Given the description of an element on the screen output the (x, y) to click on. 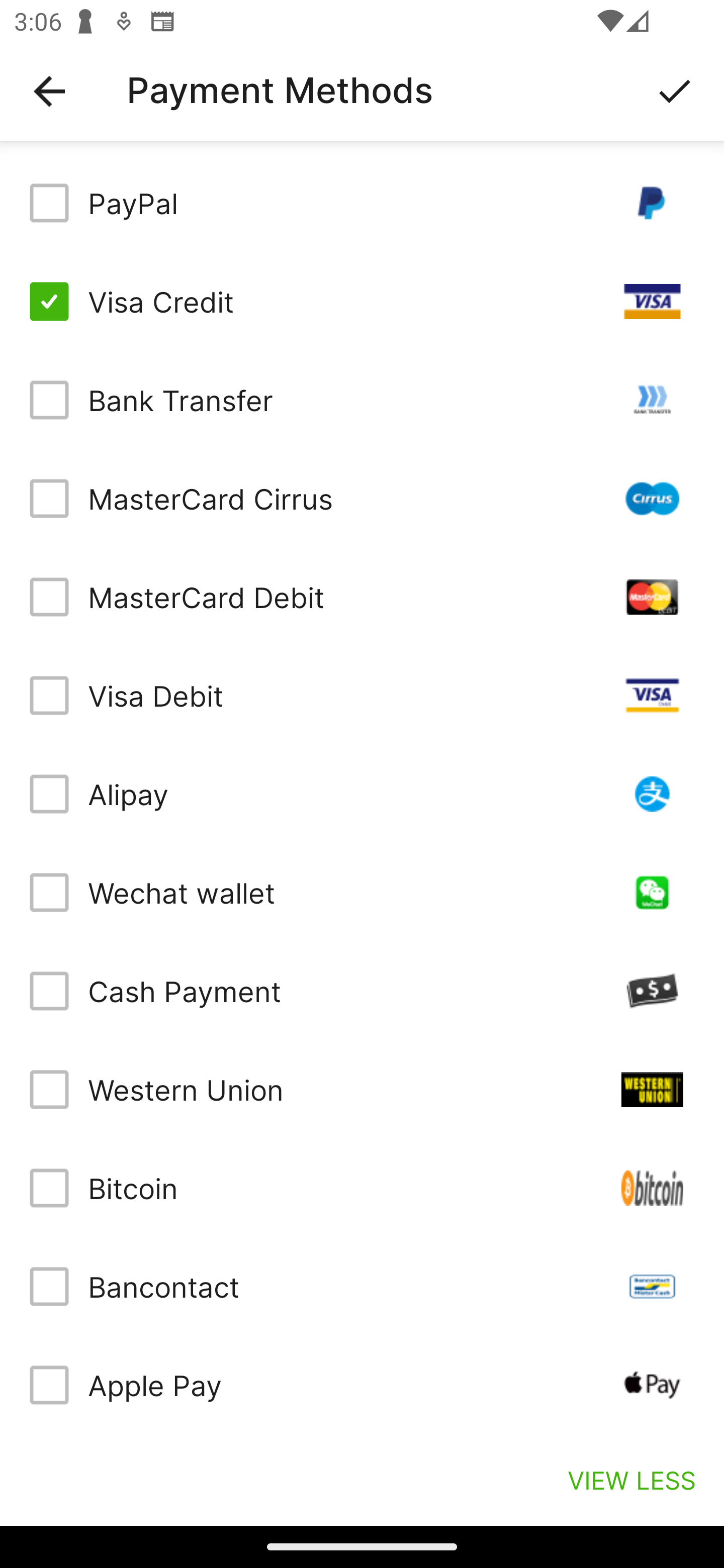
PayPal (362, 202)
Visa Credit (362, 301)
Bank Transfer (362, 400)
MasterCard Cirrus (362, 498)
MasterCard Debit (362, 596)
Visa Debit (362, 695)
Alipay (362, 793)
Wechat wallet (362, 892)
Cash Payment (362, 990)
Western Union (362, 1088)
Bitcoin (362, 1187)
Bancontact (362, 1286)
Apple Pay (362, 1384)
VIEW LESS (631, 1479)
